Given the description of an element on the screen output the (x, y) to click on. 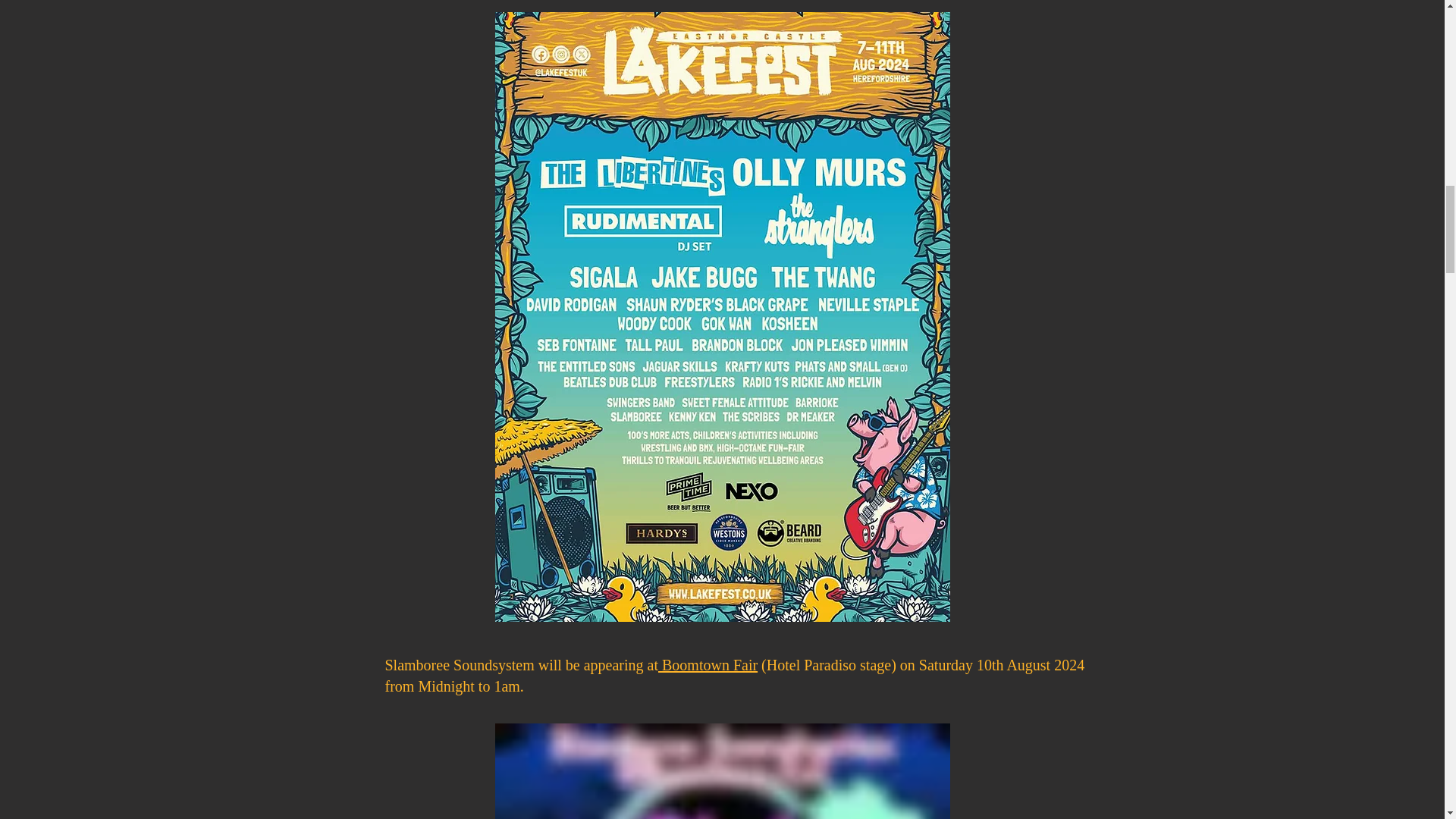
Boomtown Fair (707, 664)
Boomtown 2024.JPG (722, 771)
